Given the description of an element on the screen output the (x, y) to click on. 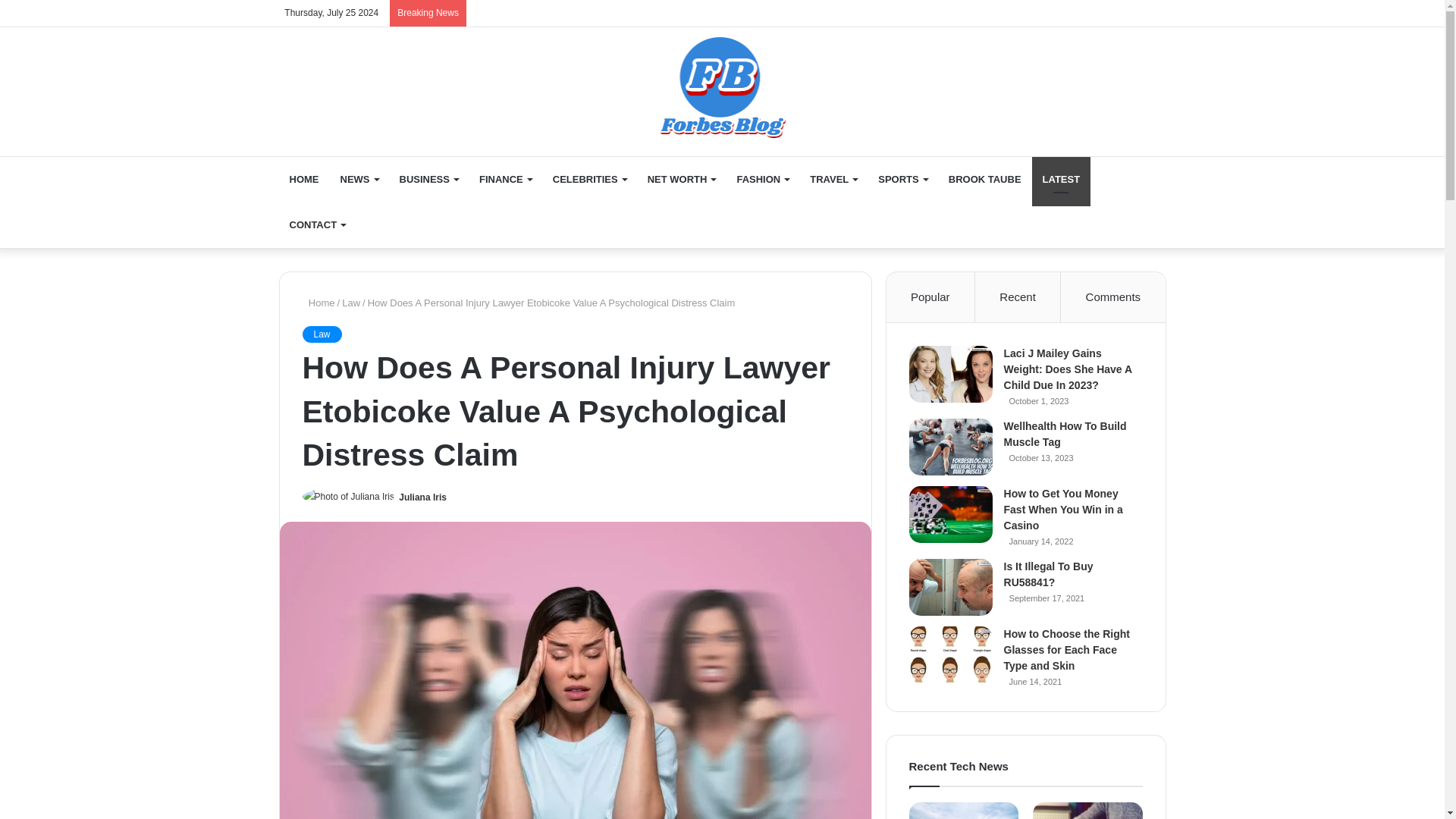
Juliana Iris (422, 497)
Home (317, 302)
LATEST (1061, 179)
BUSINESS (427, 179)
CELEBRITIES (589, 179)
Juliana Iris (422, 497)
CONTACT (317, 225)
FASHION (762, 179)
Law (350, 302)
FINANCE (504, 179)
HOME (304, 179)
Law (320, 334)
BROOK TAUBE (984, 179)
NEWS (358, 179)
NET WORTH (681, 179)
